Given the description of an element on the screen output the (x, y) to click on. 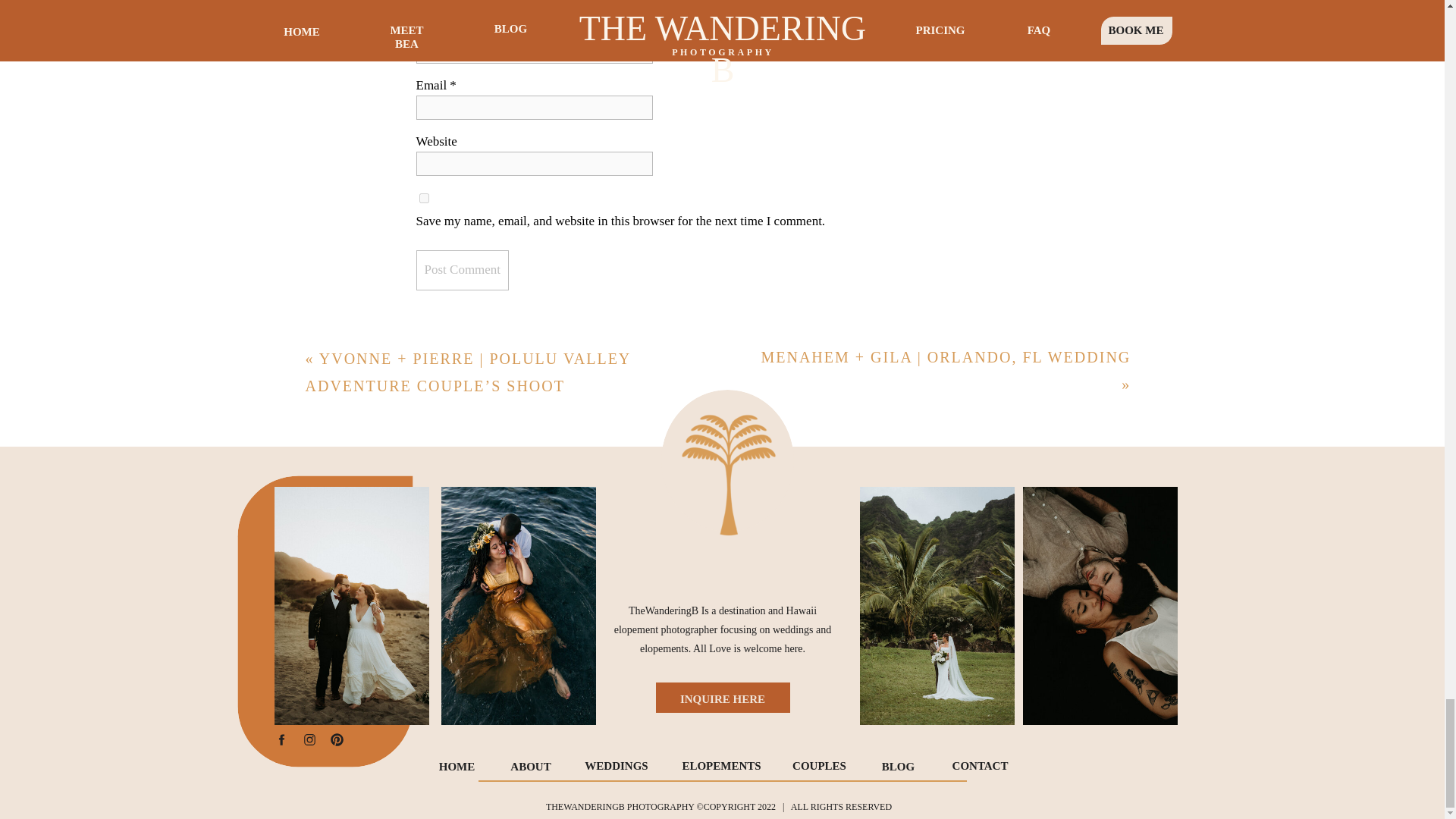
ELOPEMENTS (722, 768)
Post Comment (461, 270)
ABOUT (531, 768)
Post Comment (461, 270)
yes (423, 198)
HOME (455, 768)
BLOG (897, 768)
COUPLES (819, 768)
WEDDINGS (616, 768)
CONTACT (980, 768)
